Given the description of an element on the screen output the (x, y) to click on. 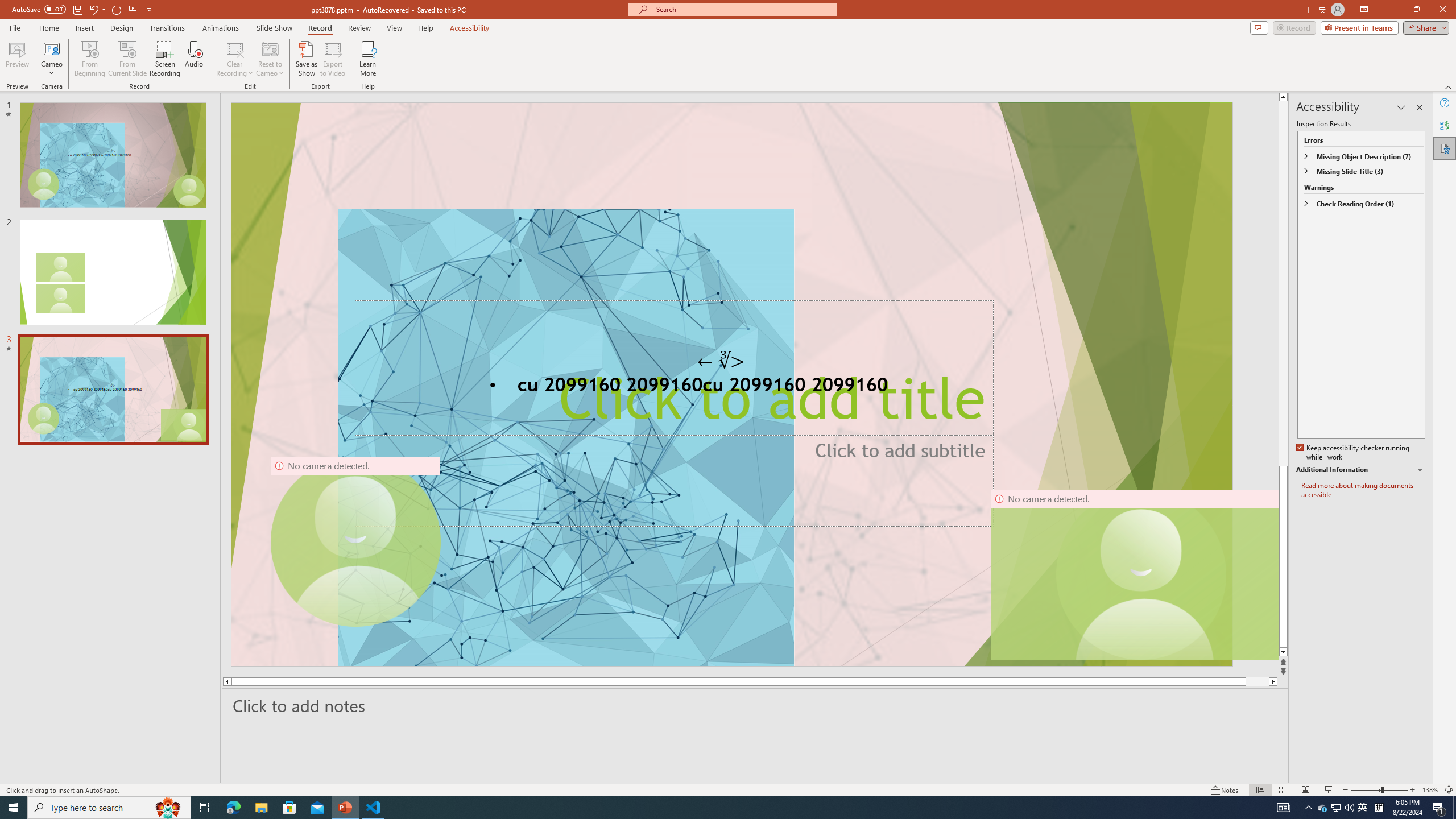
TextBox 61 (730, 386)
Zoom 138% (1430, 790)
Camera 14, No camera detected. (1134, 574)
